Given the description of an element on the screen output the (x, y) to click on. 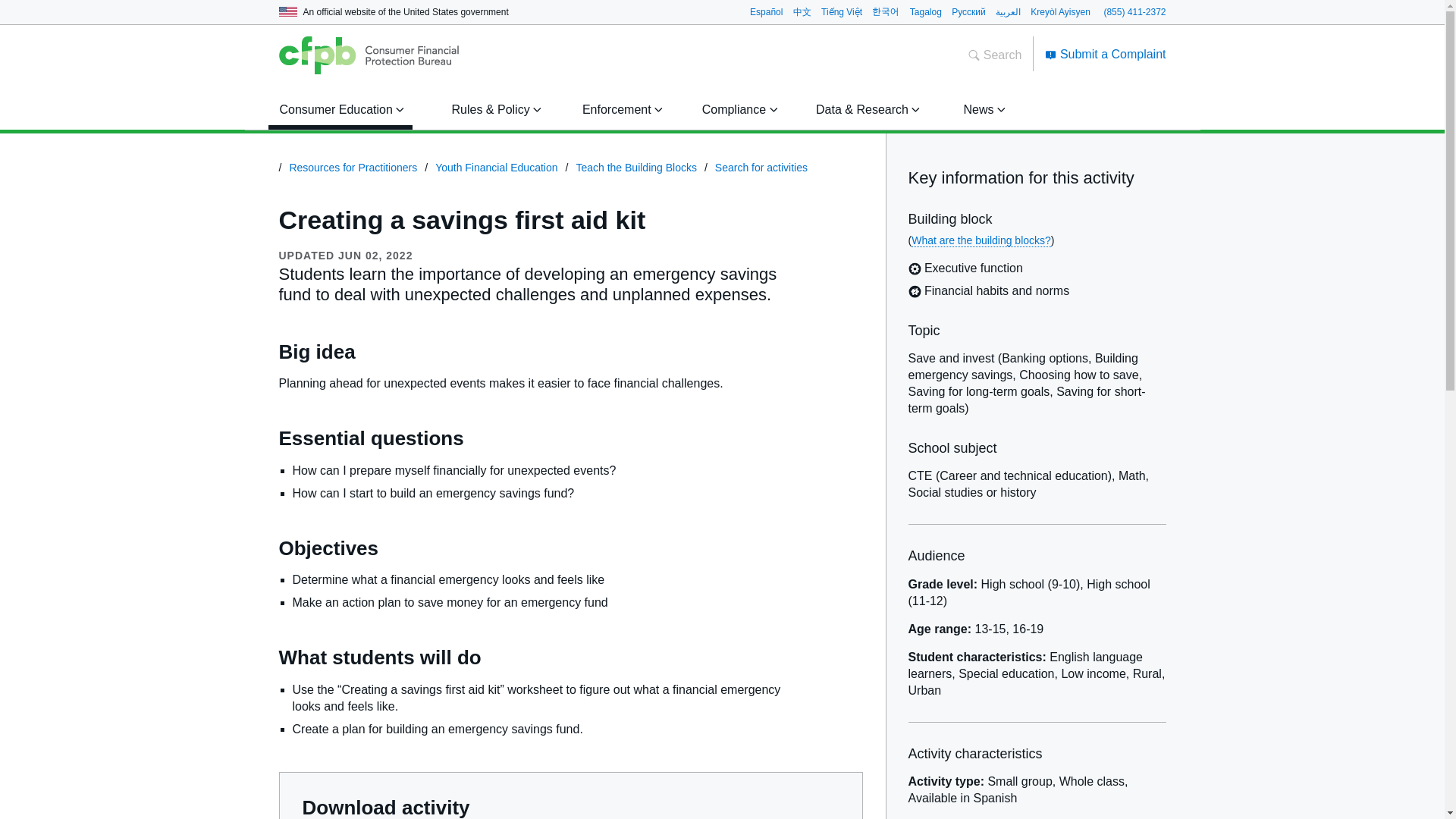
Submit a Complaint (1105, 52)
Tagalog (926, 10)
Search (995, 54)
Consumer Education (339, 109)
